Given the description of an element on the screen output the (x, y) to click on. 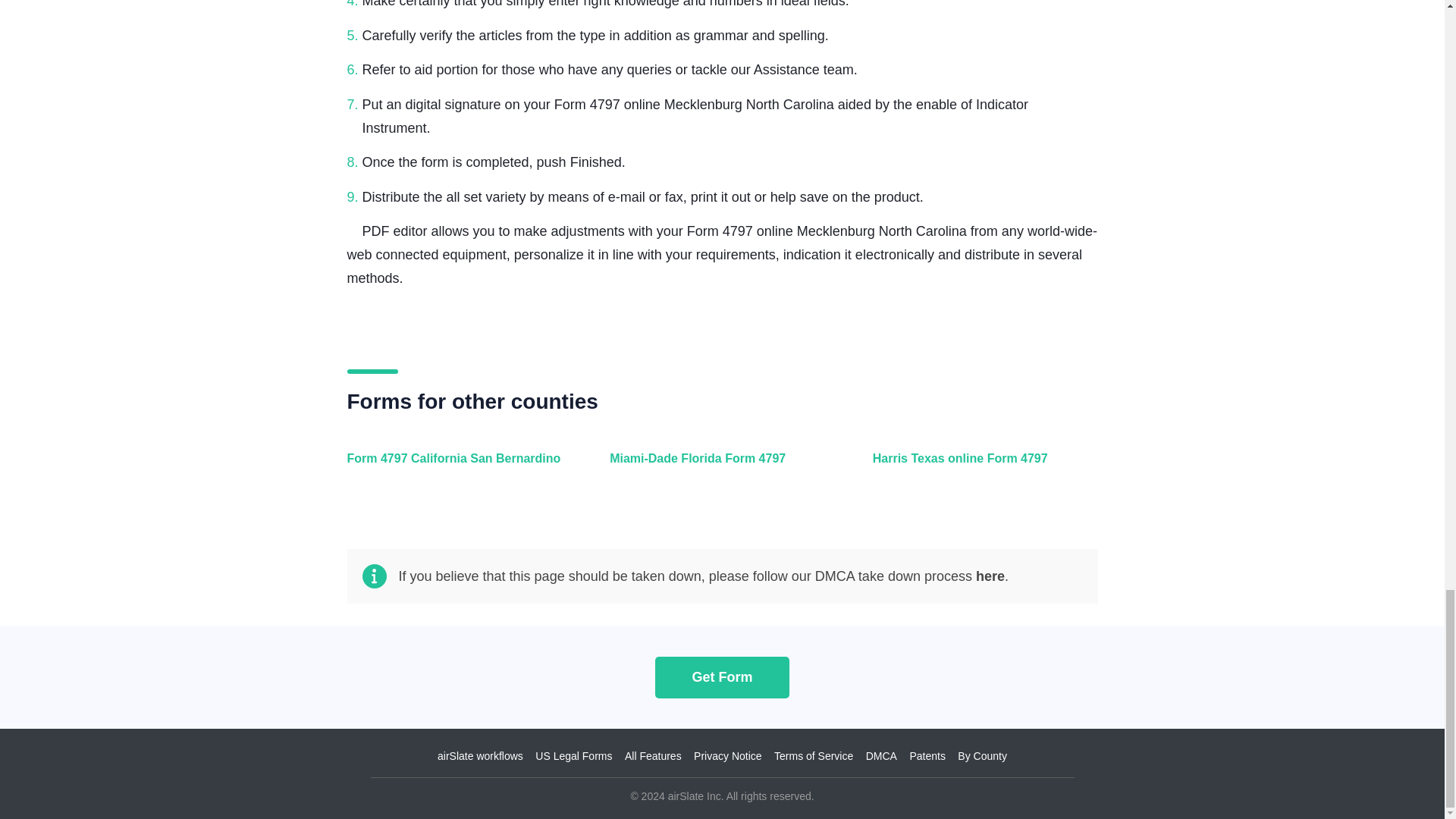
here (989, 575)
All Features (652, 756)
Miami-Dade Florida Form 4797 (718, 466)
US Legal Forms (573, 756)
Form 4797 California San Bernardino (456, 466)
Harris Texas online Form 4797 (981, 466)
Privacy Notice (727, 756)
Patents (926, 756)
DMCA (881, 756)
airSlate workflows (480, 756)
